Given the description of an element on the screen output the (x, y) to click on. 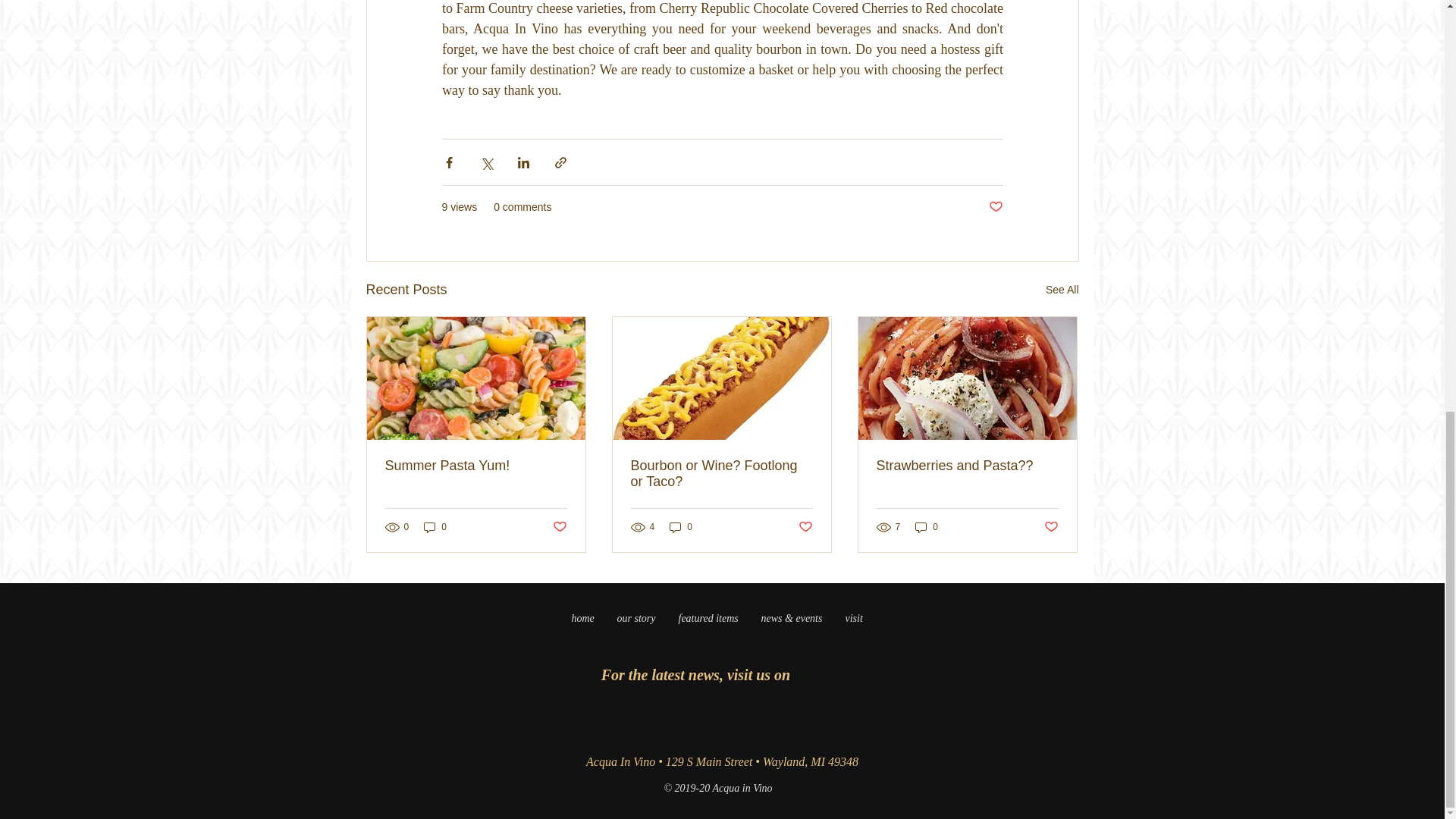
Post not marked as liked (804, 527)
0 (681, 526)
Post not marked as liked (995, 207)
Strawberries and Pasta?? (967, 465)
Post not marked as liked (1050, 527)
See All (1061, 290)
0 (435, 526)
our story (635, 618)
Bourbon or Wine? Footlong or Taco? (721, 473)
0 (926, 526)
Post not marked as liked (558, 527)
Summer Pasta Yum! (476, 465)
home (582, 618)
